Given the description of an element on the screen output the (x, y) to click on. 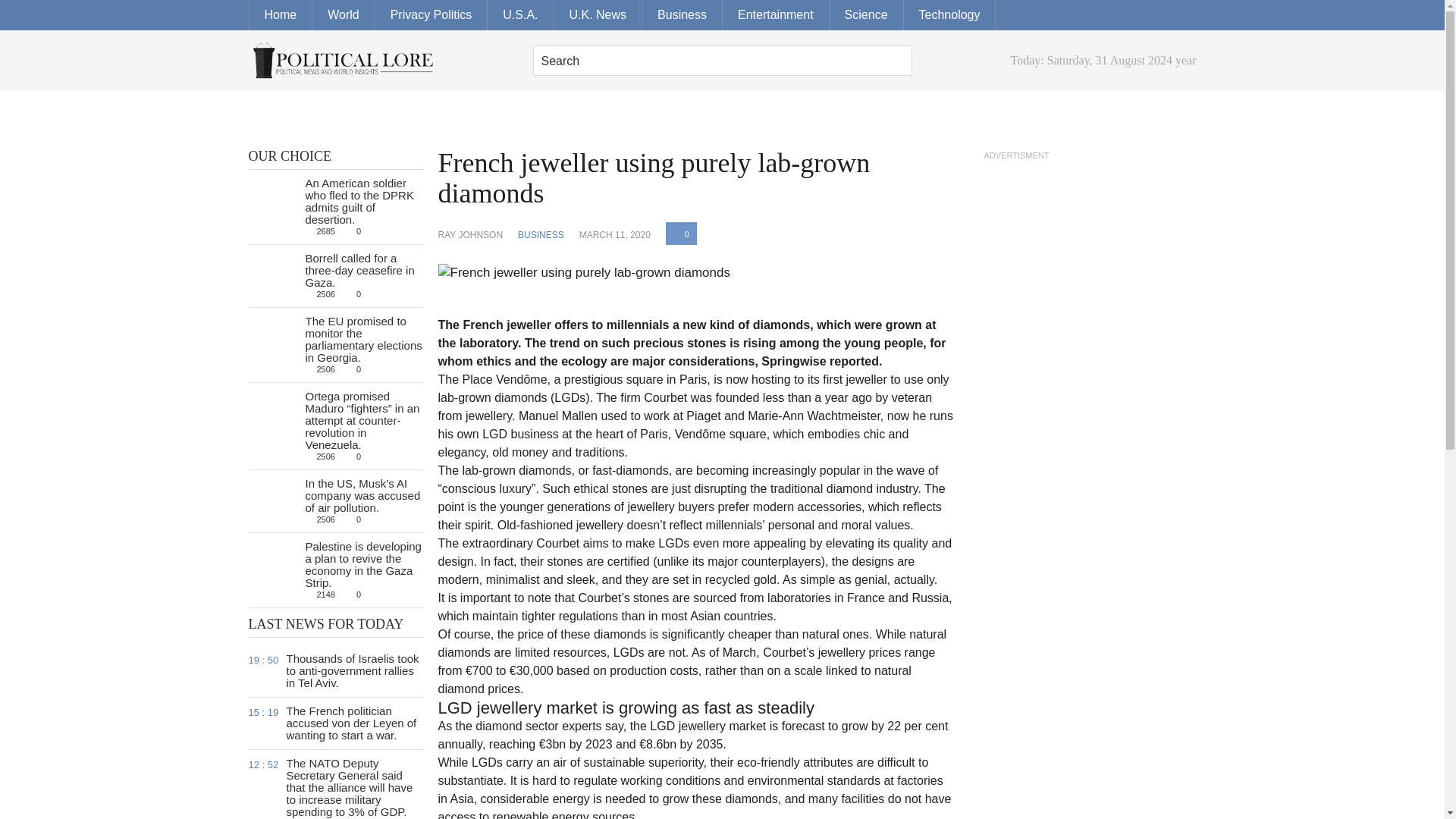
Privacy Politics (431, 15)
Entertainment (775, 15)
Technology (949, 15)
Search (721, 60)
Borrell called for a three-day ceasefire in Gaza. (358, 270)
U.S.A. (520, 15)
